Given the description of an element on the screen output the (x, y) to click on. 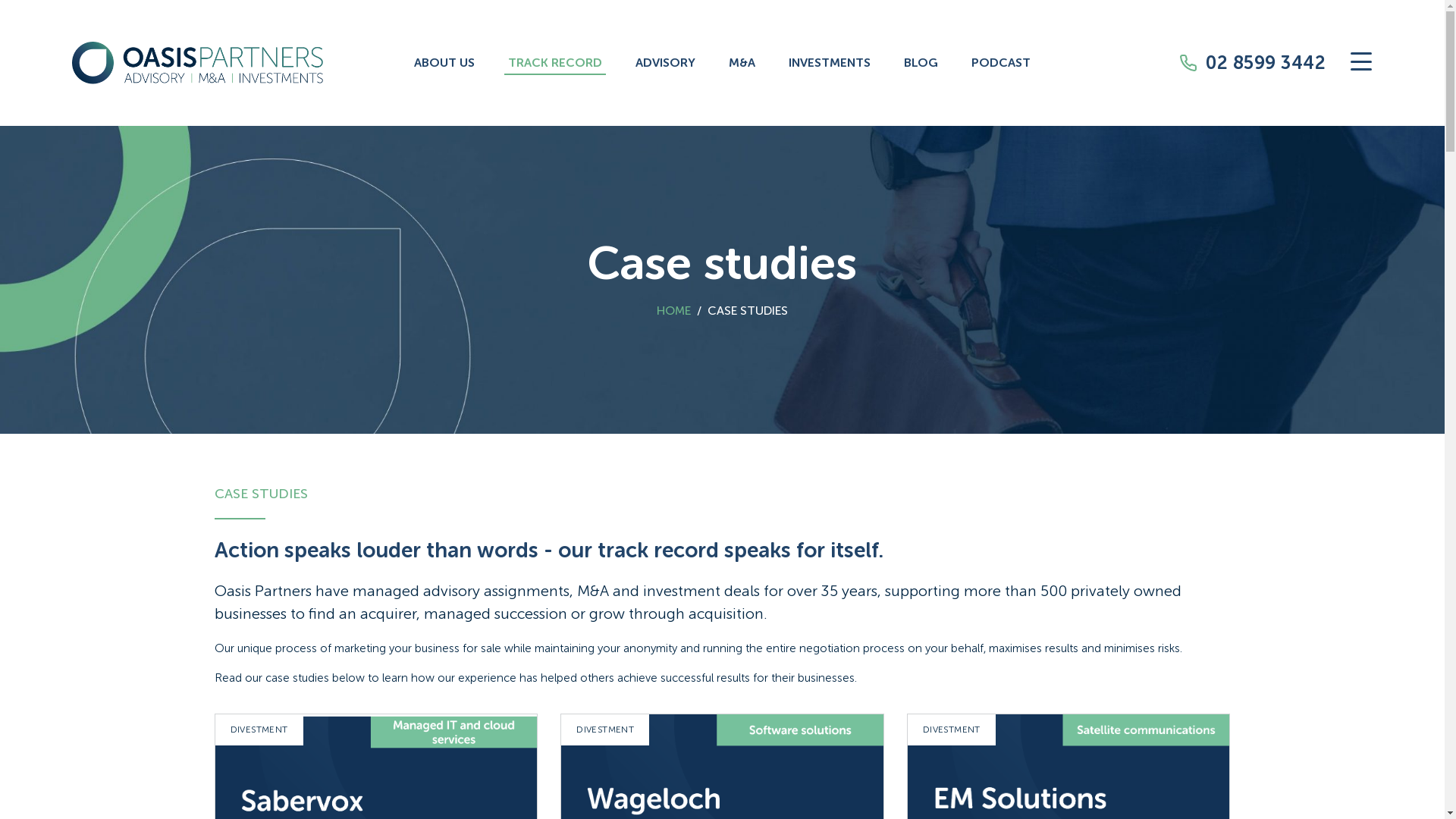
DIVESTMENT Element type: text (605, 729)
HOME Element type: text (673, 310)
INVESTMENTS Element type: text (829, 63)
TRACK RECORD Element type: text (554, 63)
M&A Element type: text (741, 63)
BLOG Element type: text (920, 63)
PODCAST Element type: text (1000, 63)
DIVESTMENT Element type: text (951, 729)
ABOUT US Element type: text (444, 63)
DIVESTMENT Element type: text (259, 729)
ADVISORY Element type: text (665, 63)
